Given the description of an element on the screen output the (x, y) to click on. 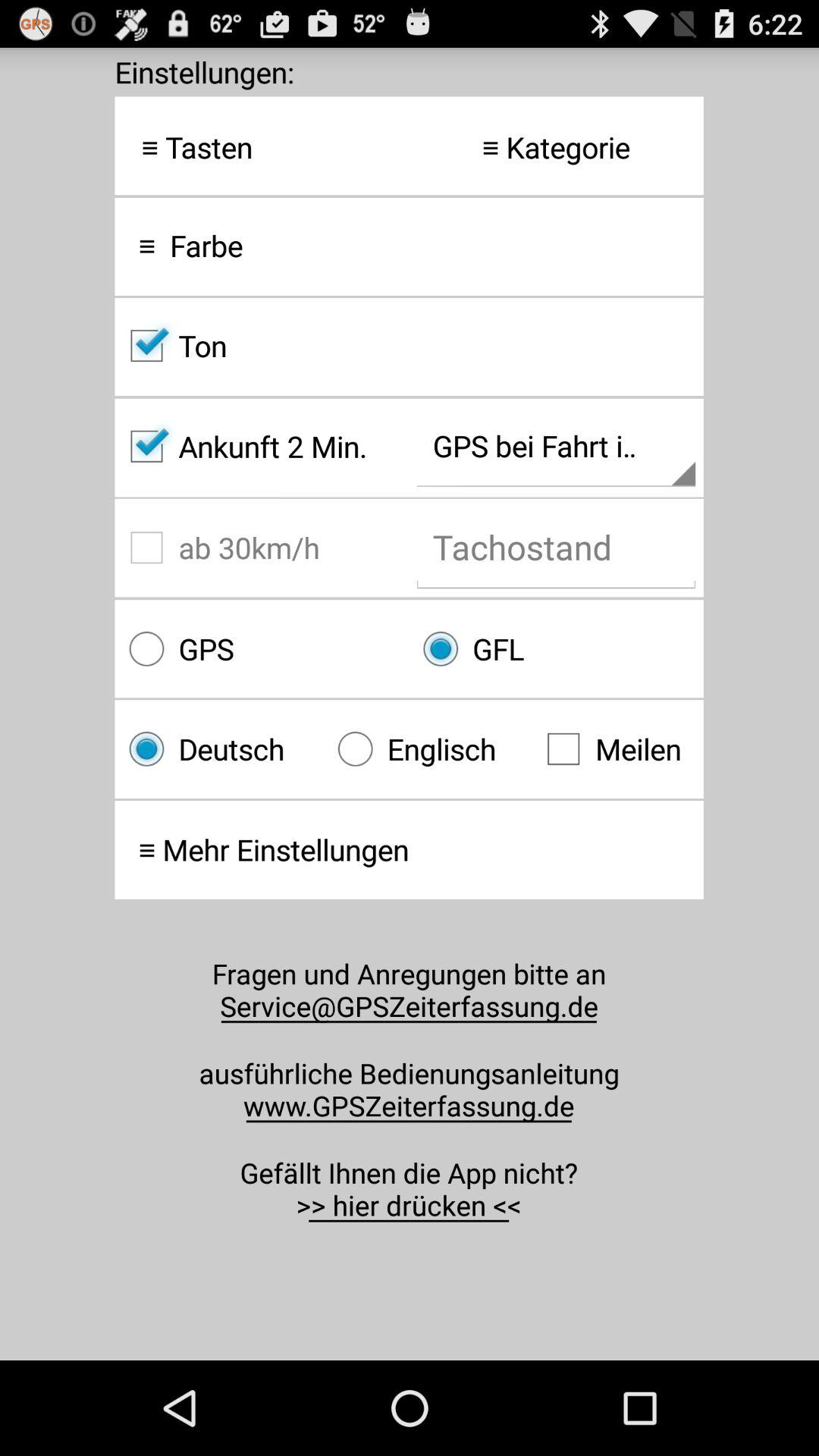
swipe to englisch icon (427, 748)
